Given the description of an element on the screen output the (x, y) to click on. 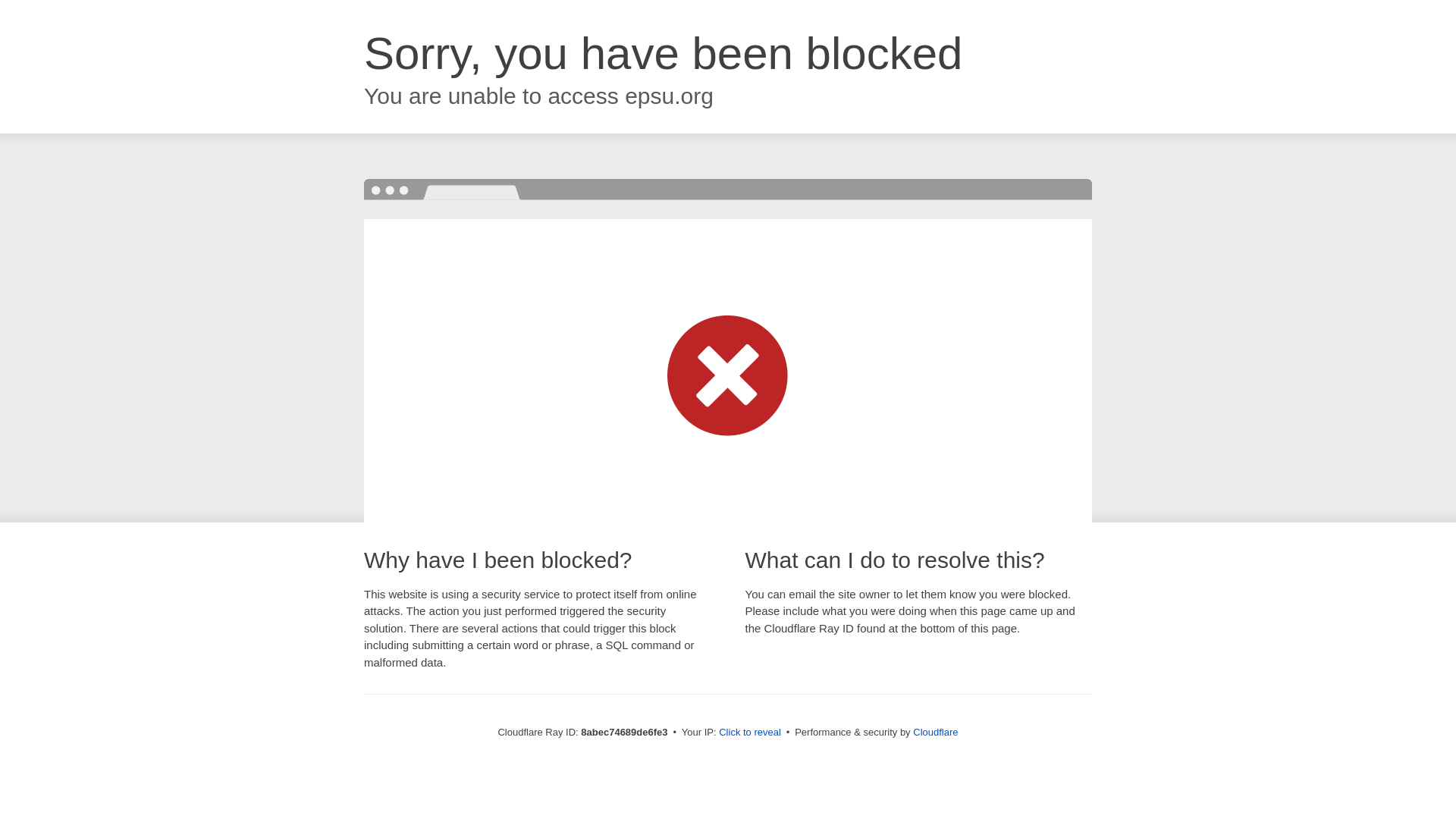
Cloudflare (935, 731)
Click to reveal (749, 732)
